Given the description of an element on the screen output the (x, y) to click on. 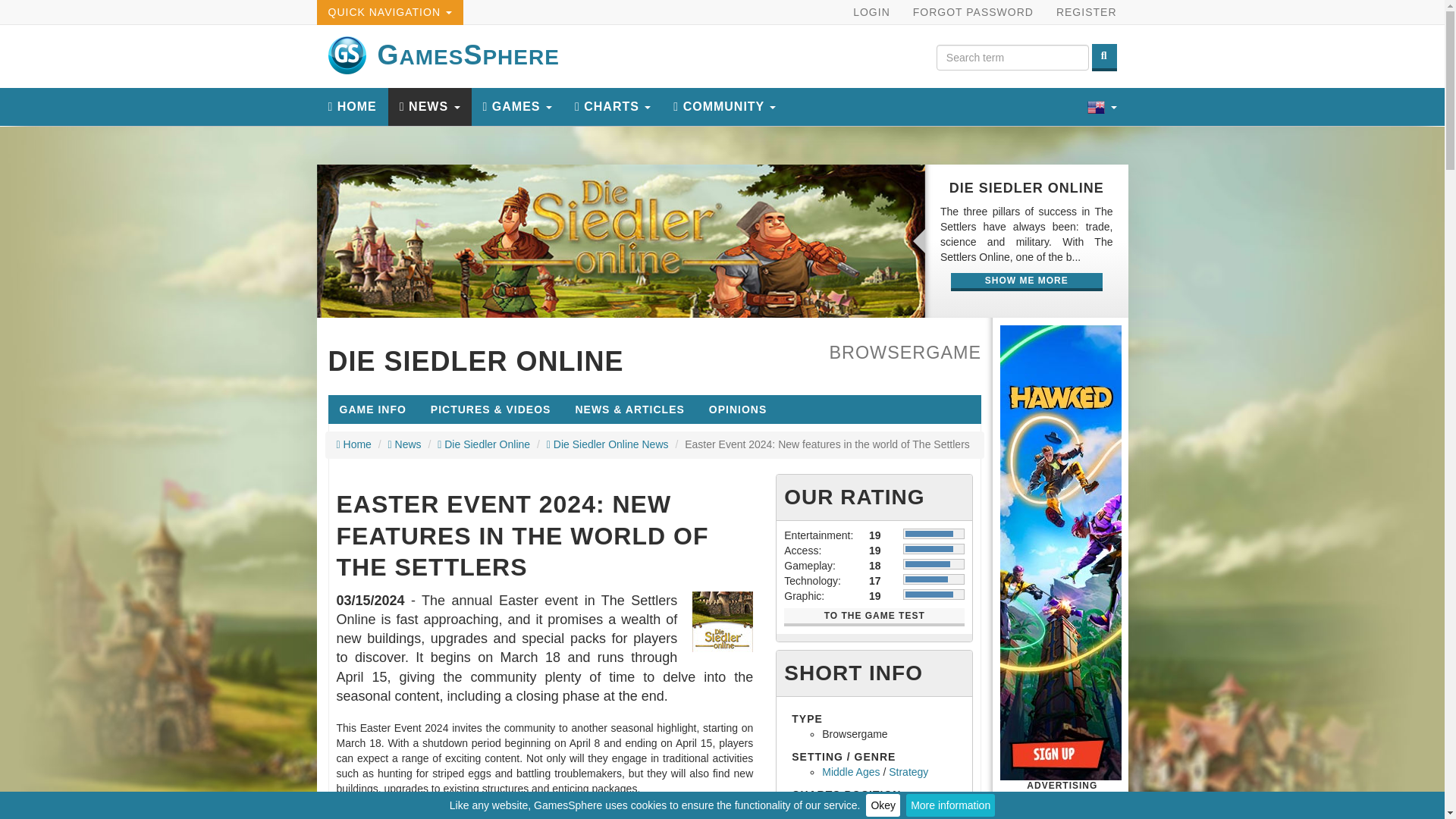
Die Siedler Online (621, 240)
QUICK NAVIGATION (390, 12)
Okey (882, 804)
At least 3 characters for the search term (1012, 57)
More information (949, 804)
